Given the description of an element on the screen output the (x, y) to click on. 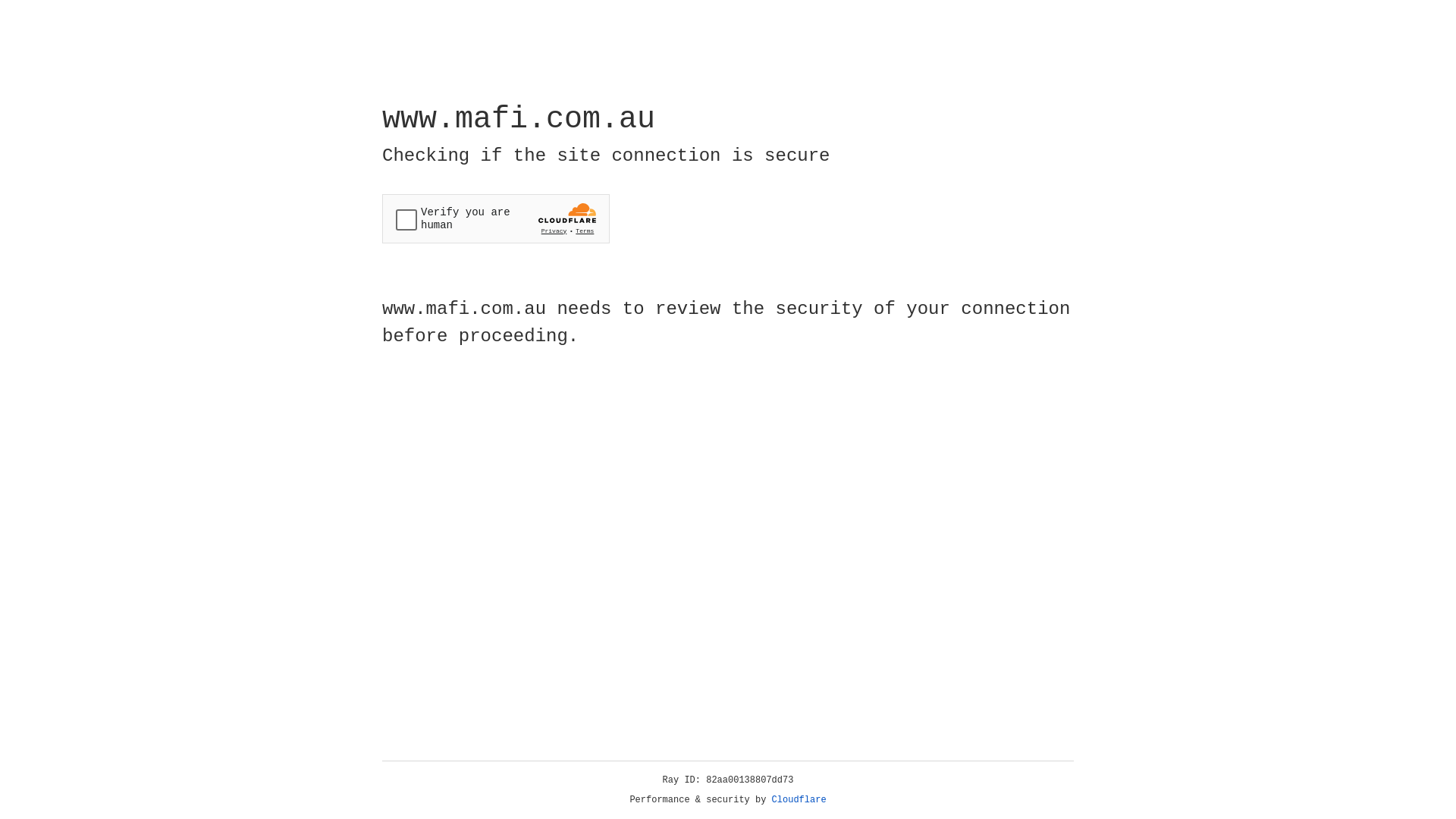
Widget containing a Cloudflare security challenge Element type: hover (495, 218)
Cloudflare Element type: text (798, 799)
